Given the description of an element on the screen output the (x, y) to click on. 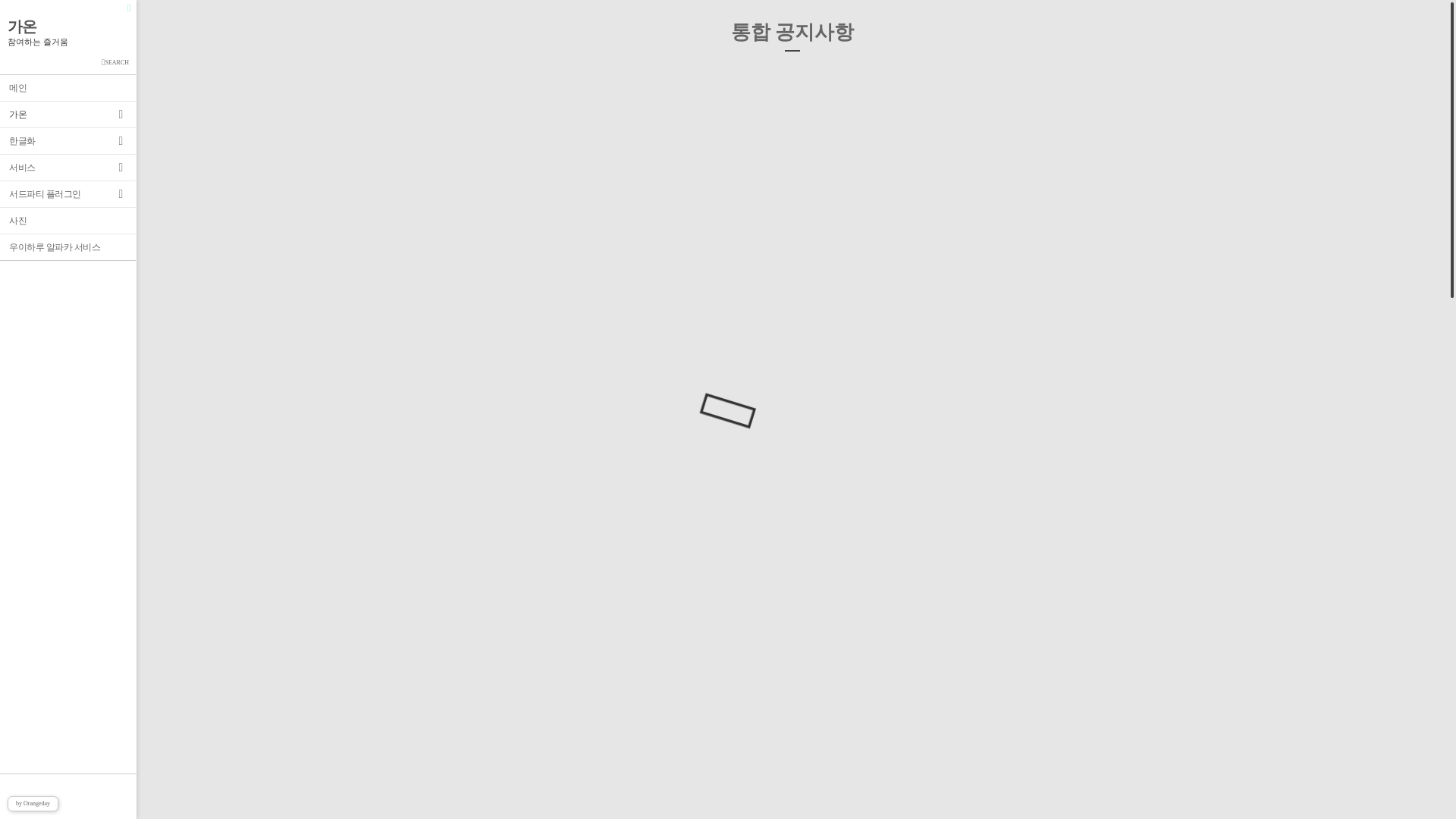
SEARCH (68, 60)
